Given the description of an element on the screen output the (x, y) to click on. 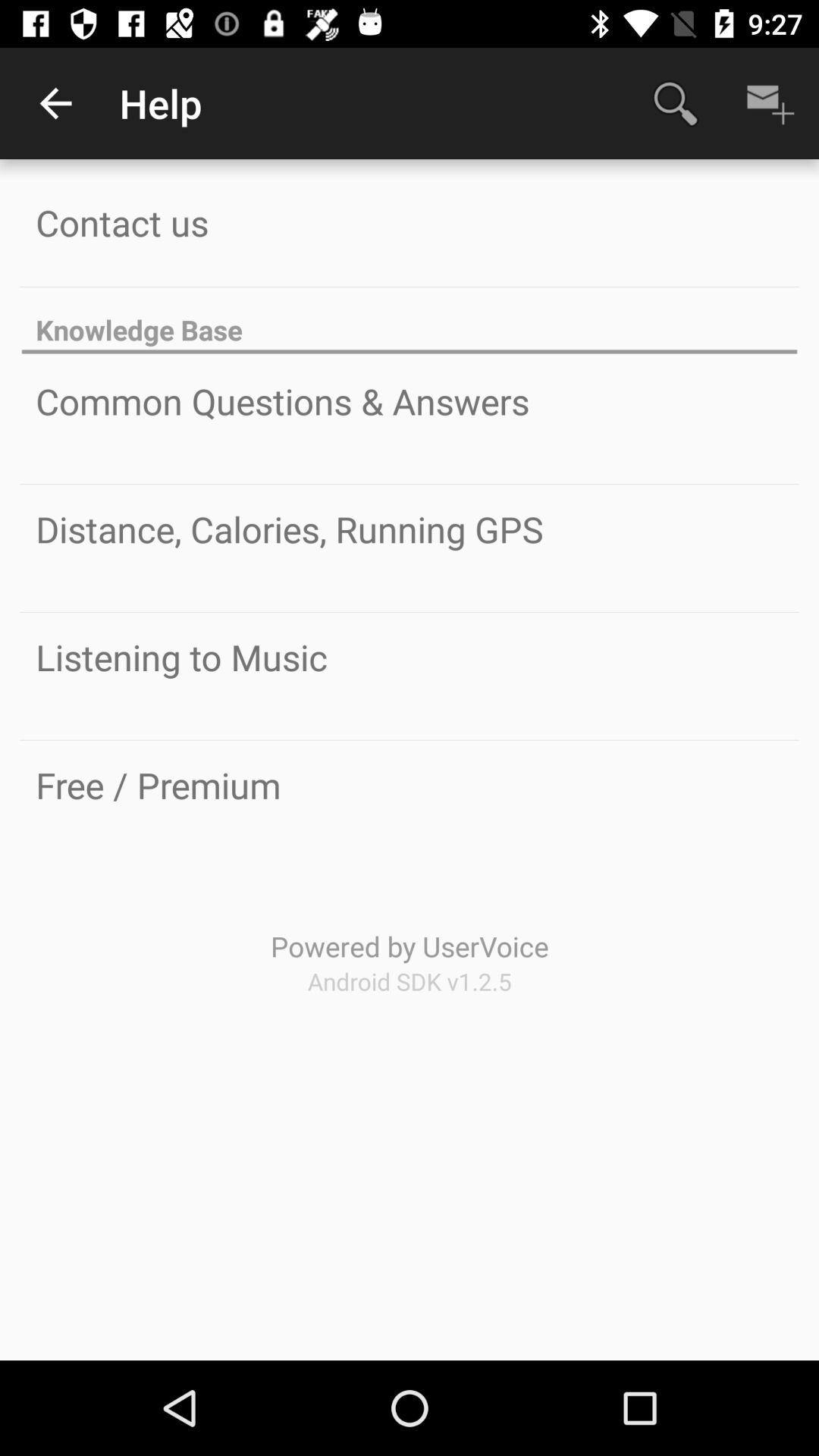
flip to free / premium icon (157, 784)
